Given the description of an element on the screen output the (x, y) to click on. 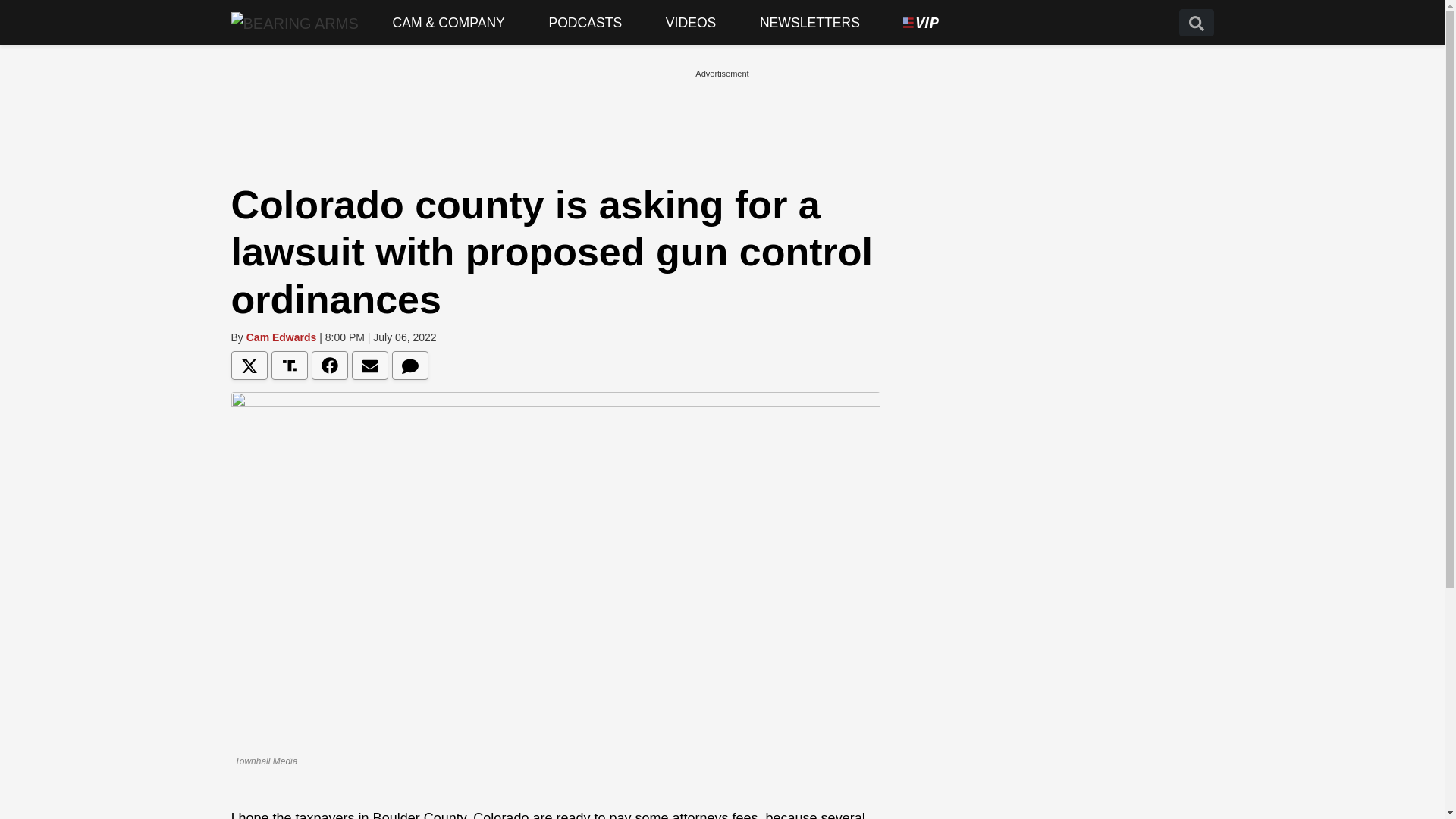
Bearing Arms (294, 22)
Videos (690, 22)
NEWSLETTERS (810, 22)
VIDEOS (690, 22)
Newsletters (810, 22)
VIP (920, 22)
PODCASTS (585, 22)
Podcasts (585, 22)
Site Search (1194, 22)
